Given the description of an element on the screen output the (x, y) to click on. 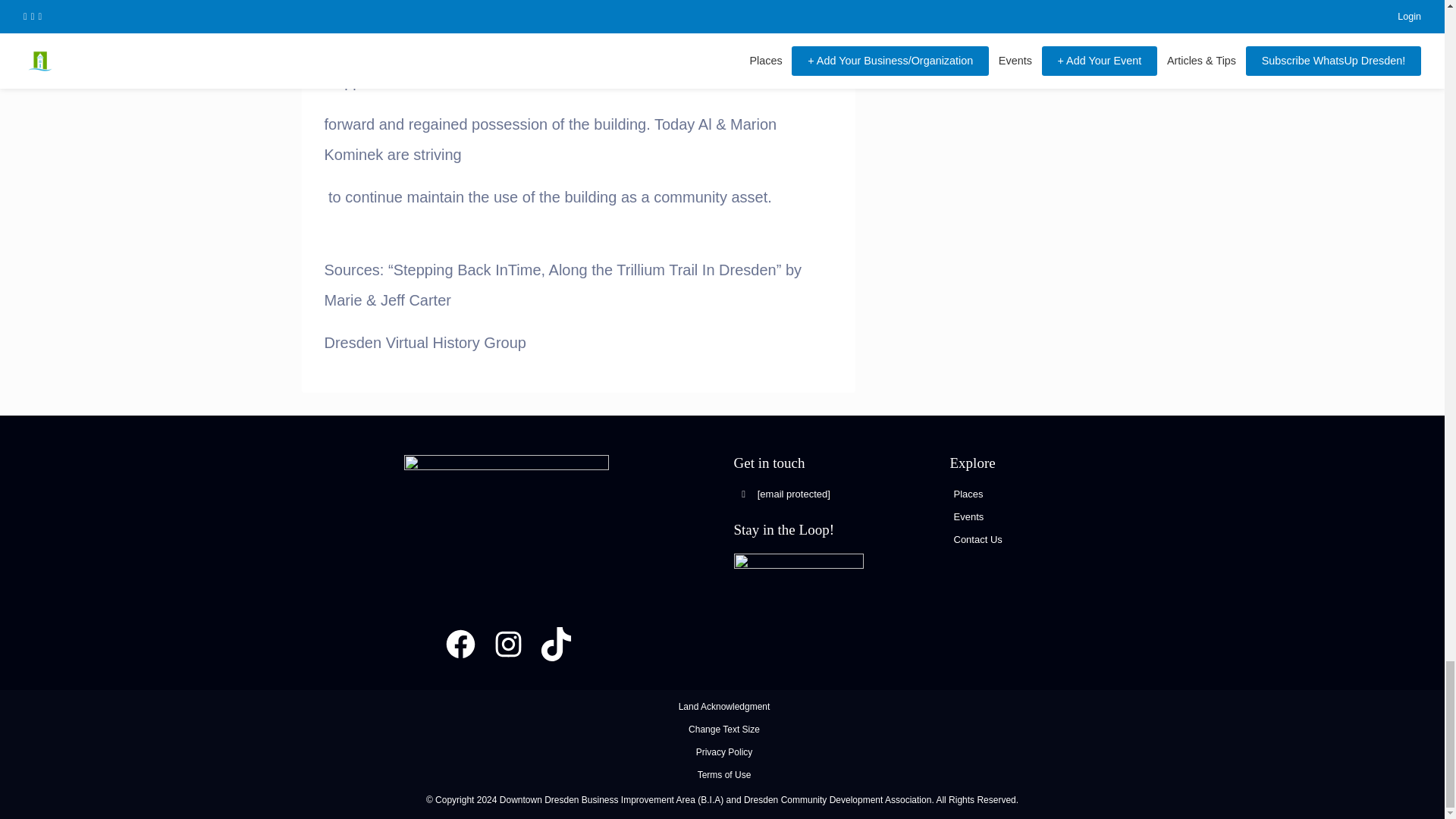
TikTok (555, 643)
Instagram (508, 643)
Facebook (459, 643)
Contact Us (978, 539)
Land Acknowledgment (724, 706)
Places (968, 493)
Events (968, 516)
Change Text Size (724, 728)
Terms of Use (724, 774)
Privacy Policy (723, 751)
